Given the description of an element on the screen output the (x, y) to click on. 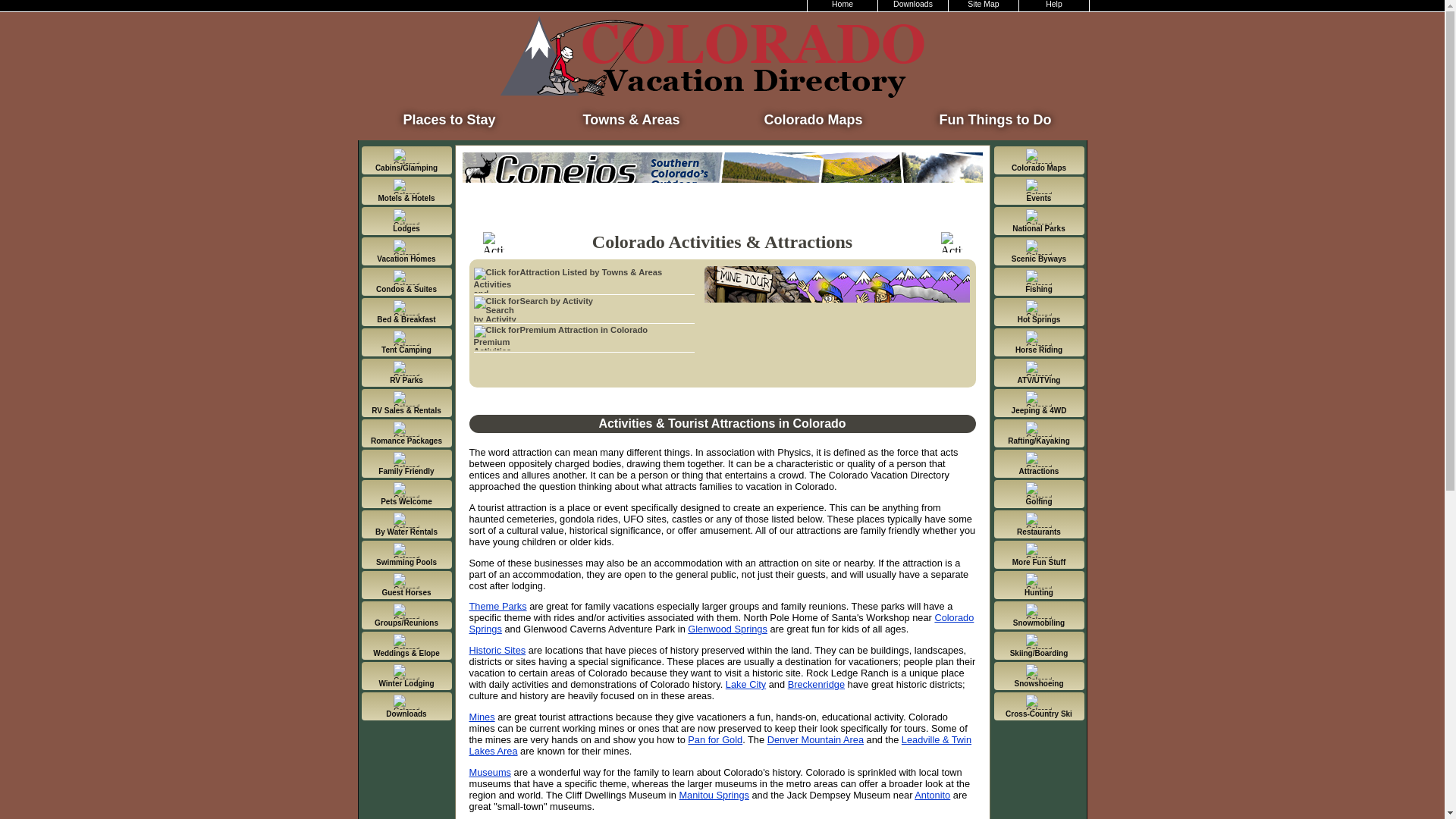
Antonito (932, 794)
Theme Parks (496, 605)
Mines (481, 716)
Downloads (913, 5)
Colorado Vacation Homes (406, 251)
Search by Activity (583, 300)
Premium Attraction in Colorado (583, 329)
Glenwood Springs (727, 628)
Colorado Maps (813, 114)
Search for Places to Stay in Colorado (449, 114)
